Given the description of an element on the screen output the (x, y) to click on. 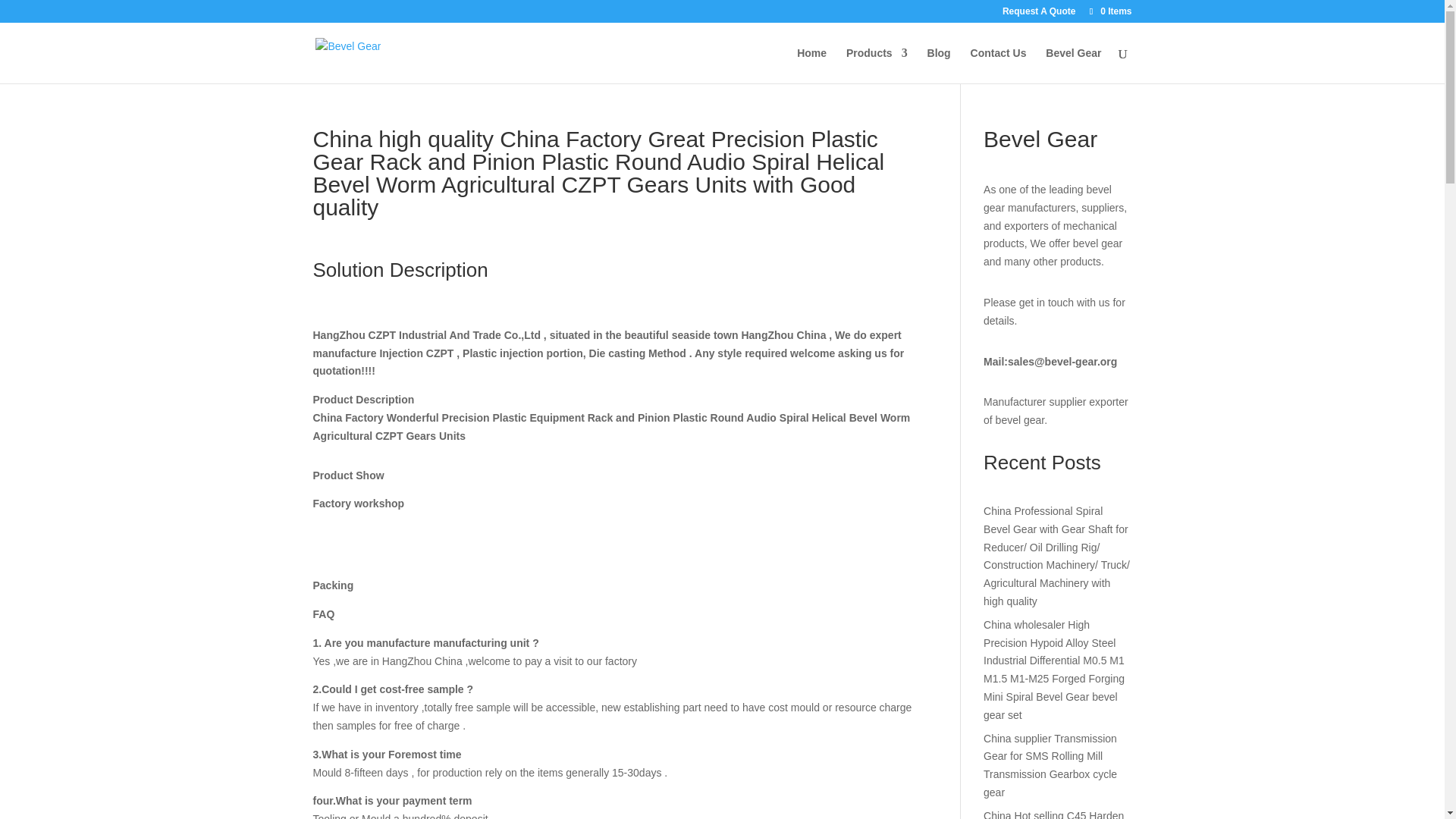
Request A Quote (1039, 14)
Bevel Gear (1072, 65)
Products (876, 65)
0 Items (1108, 10)
Contact Us (998, 65)
